Given the description of an element on the screen output the (x, y) to click on. 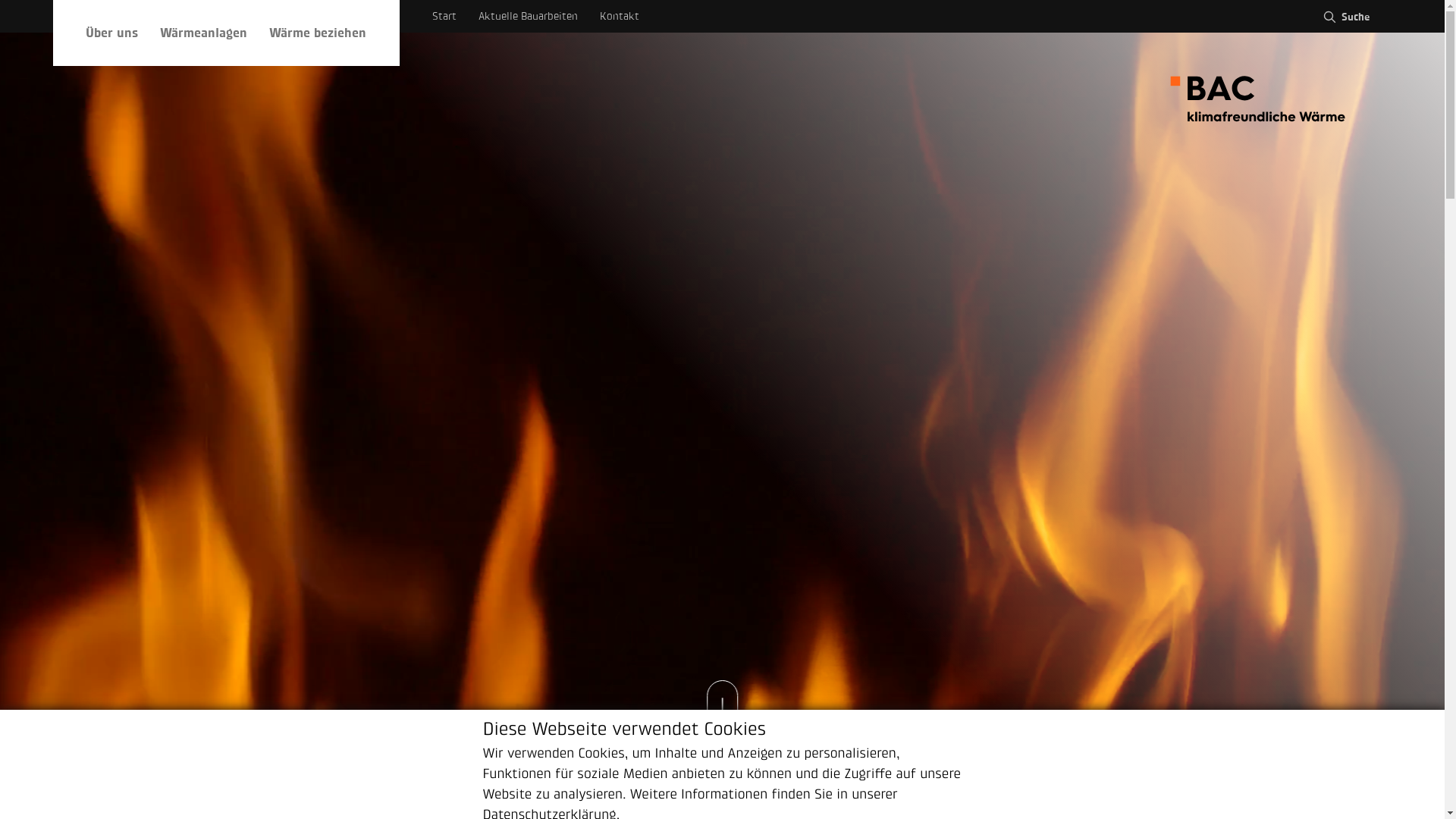
Aktuelle Bauarbeiten Element type: text (527, 16)
Start Element type: text (444, 16)
Kontakt Element type: text (619, 16)
Suche Element type: text (1345, 16)
